Given the description of an element on the screen output the (x, y) to click on. 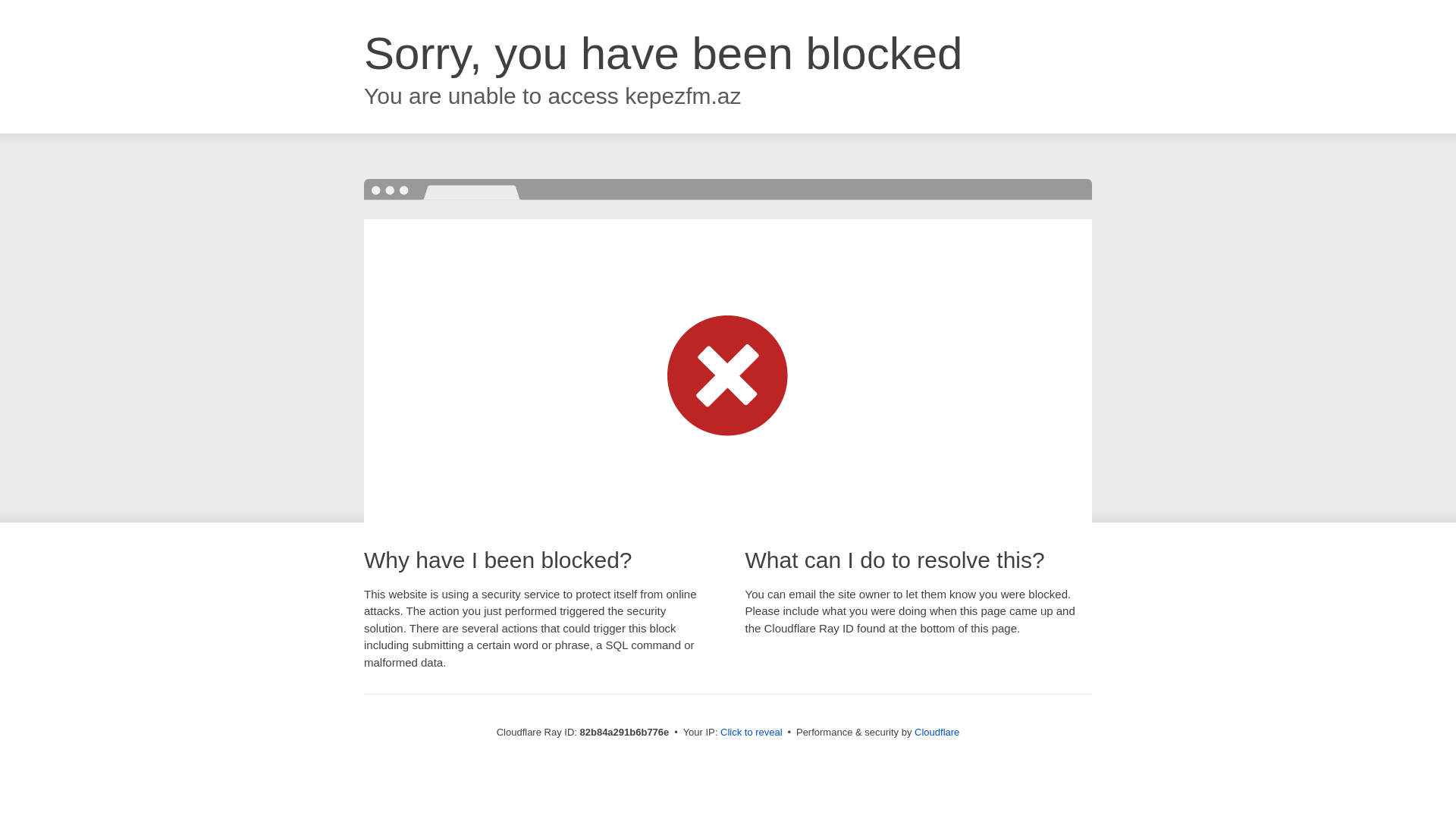
Cloudflare Element type: text (936, 731)
Click to reveal Element type: text (751, 732)
